Given the description of an element on the screen output the (x, y) to click on. 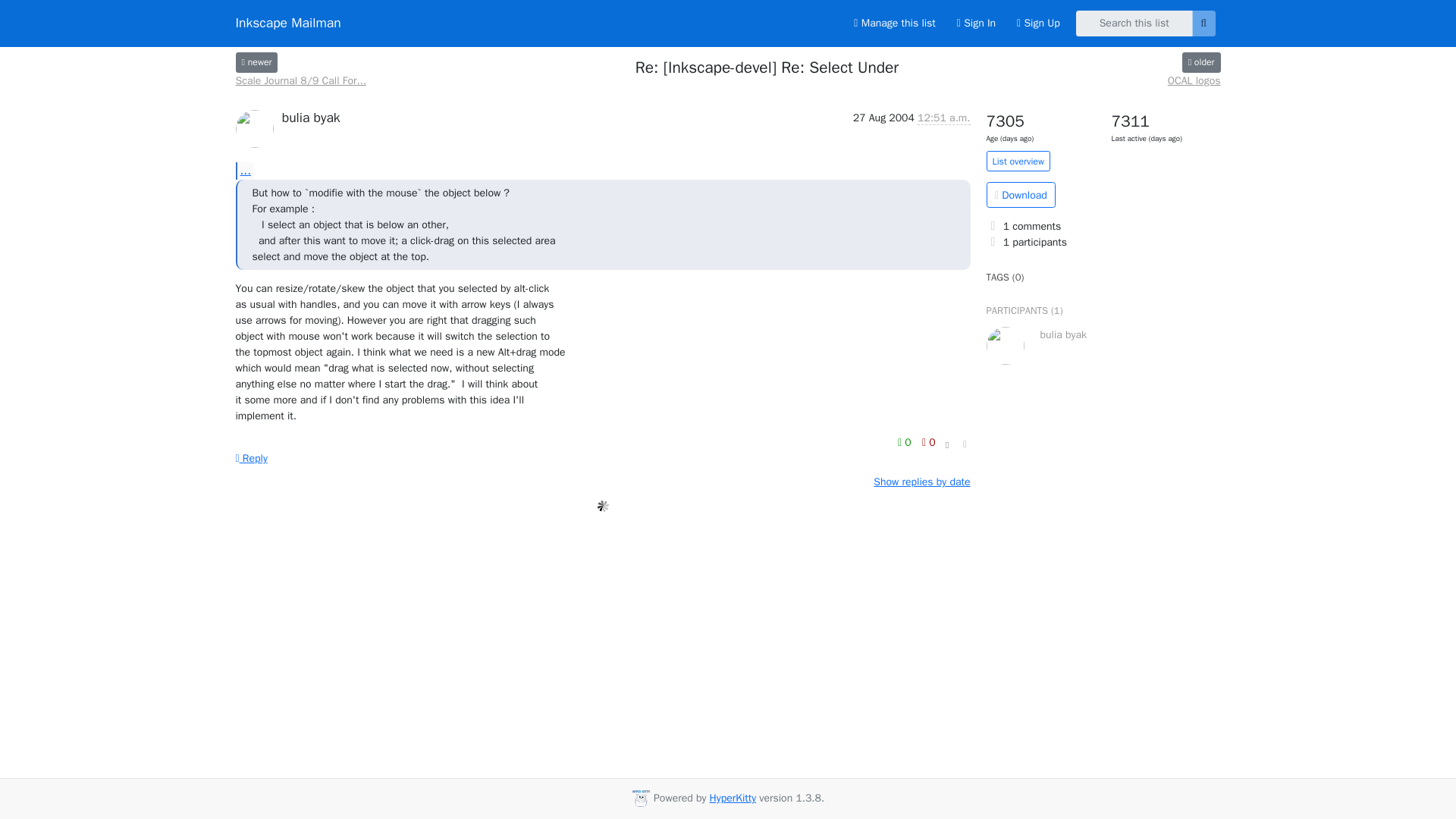
Inkscape Mailman (287, 23)
... (243, 170)
Sign in to reply online (250, 458)
Sign Up (1038, 22)
Reply (250, 458)
HyperKitty (733, 797)
Download (1020, 194)
0 (905, 442)
OCAL logos (1201, 61)
0 (928, 442)
